Given the description of an element on the screen output the (x, y) to click on. 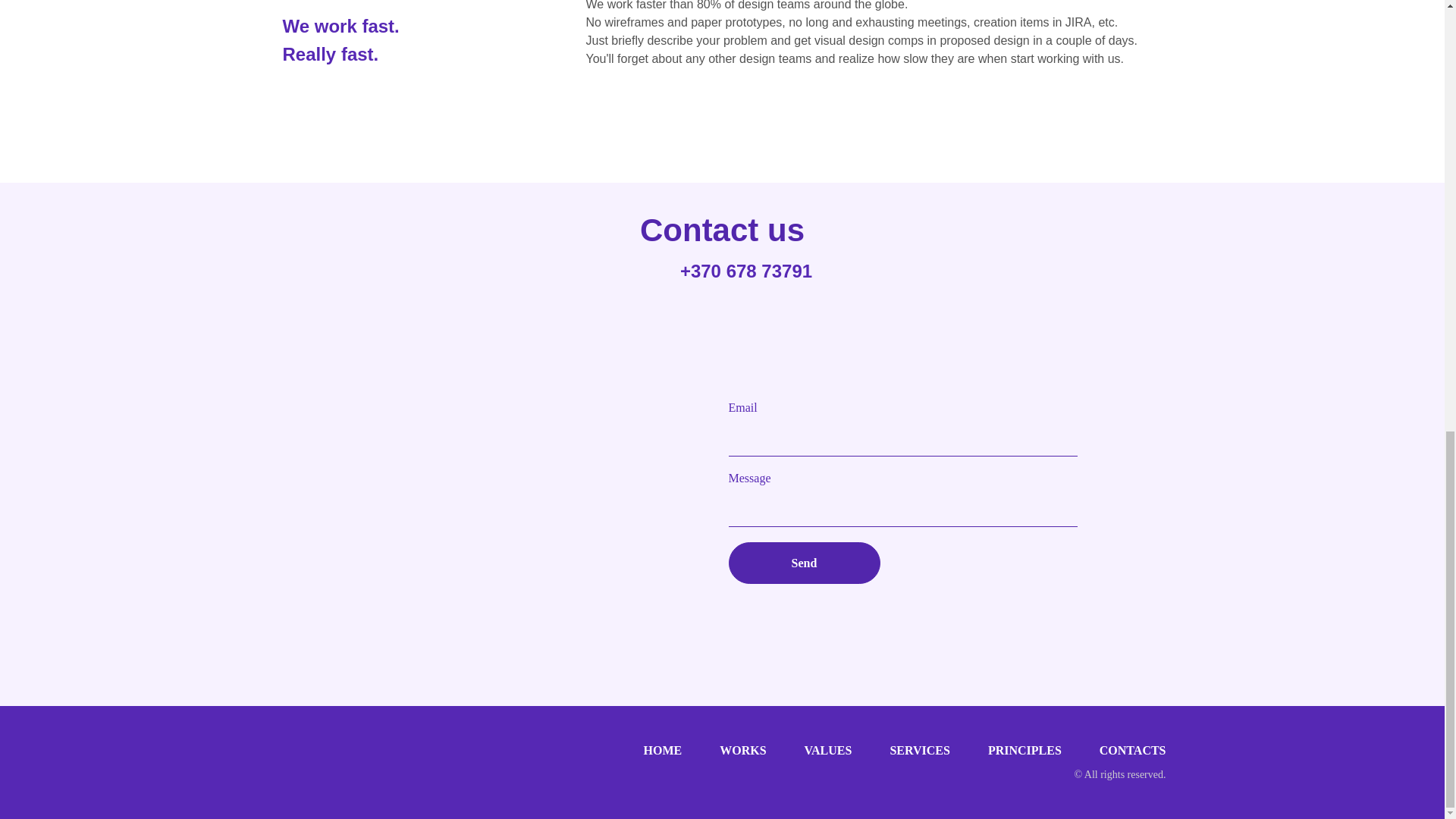
CONTACTS (1132, 749)
VALUES (828, 749)
SERVICES (919, 749)
Send (803, 562)
PRINCIPLES (1024, 749)
WORKS (742, 749)
HOME (662, 749)
